Given the description of an element on the screen output the (x, y) to click on. 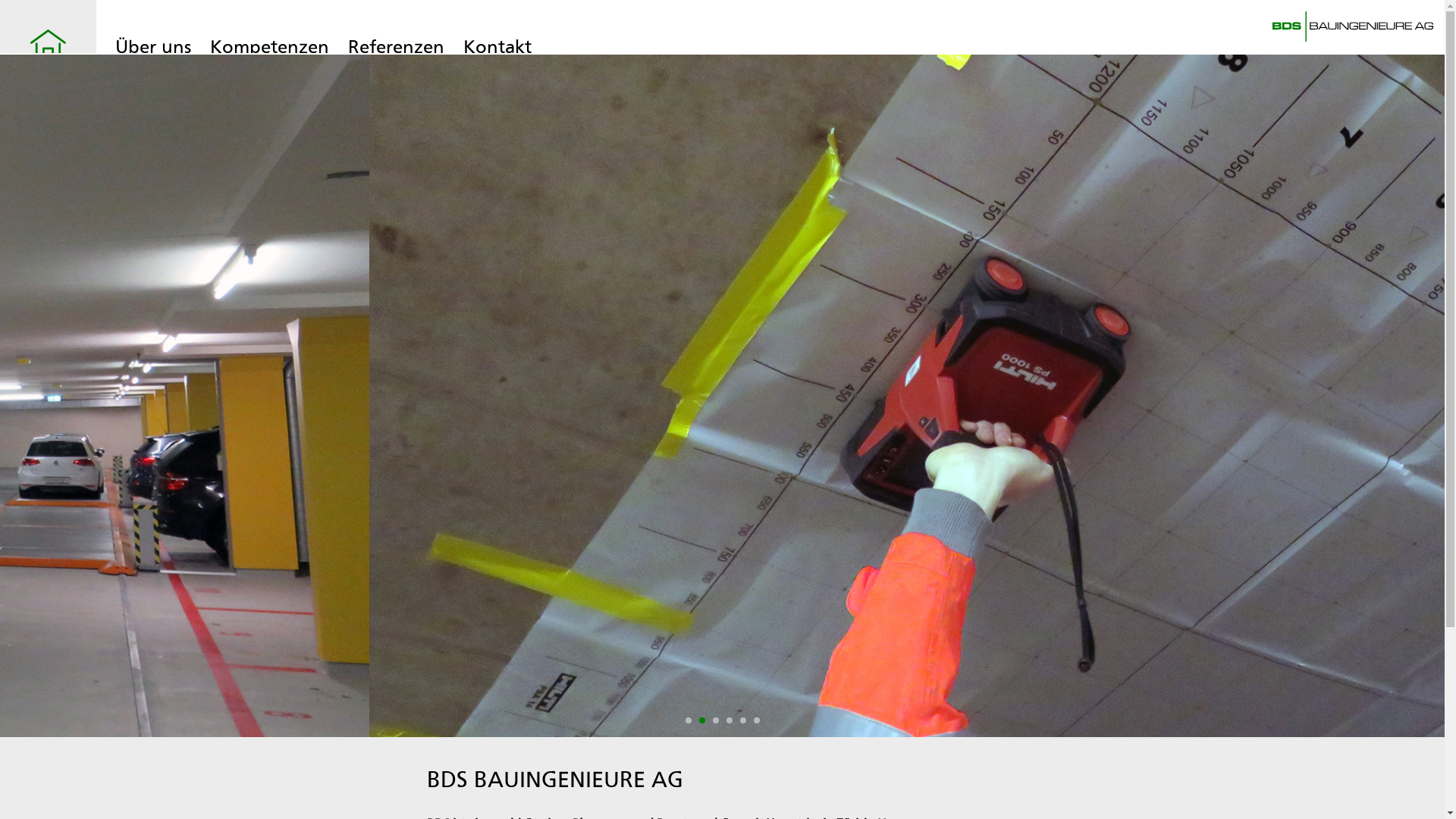
Kompetenzen Element type: text (269, 47)
Home Element type: hover (47, 57)
Home Element type: hover (1353, 37)
Kontakt Element type: text (497, 47)
Referenzen Element type: text (396, 47)
